Given the description of an element on the screen output the (x, y) to click on. 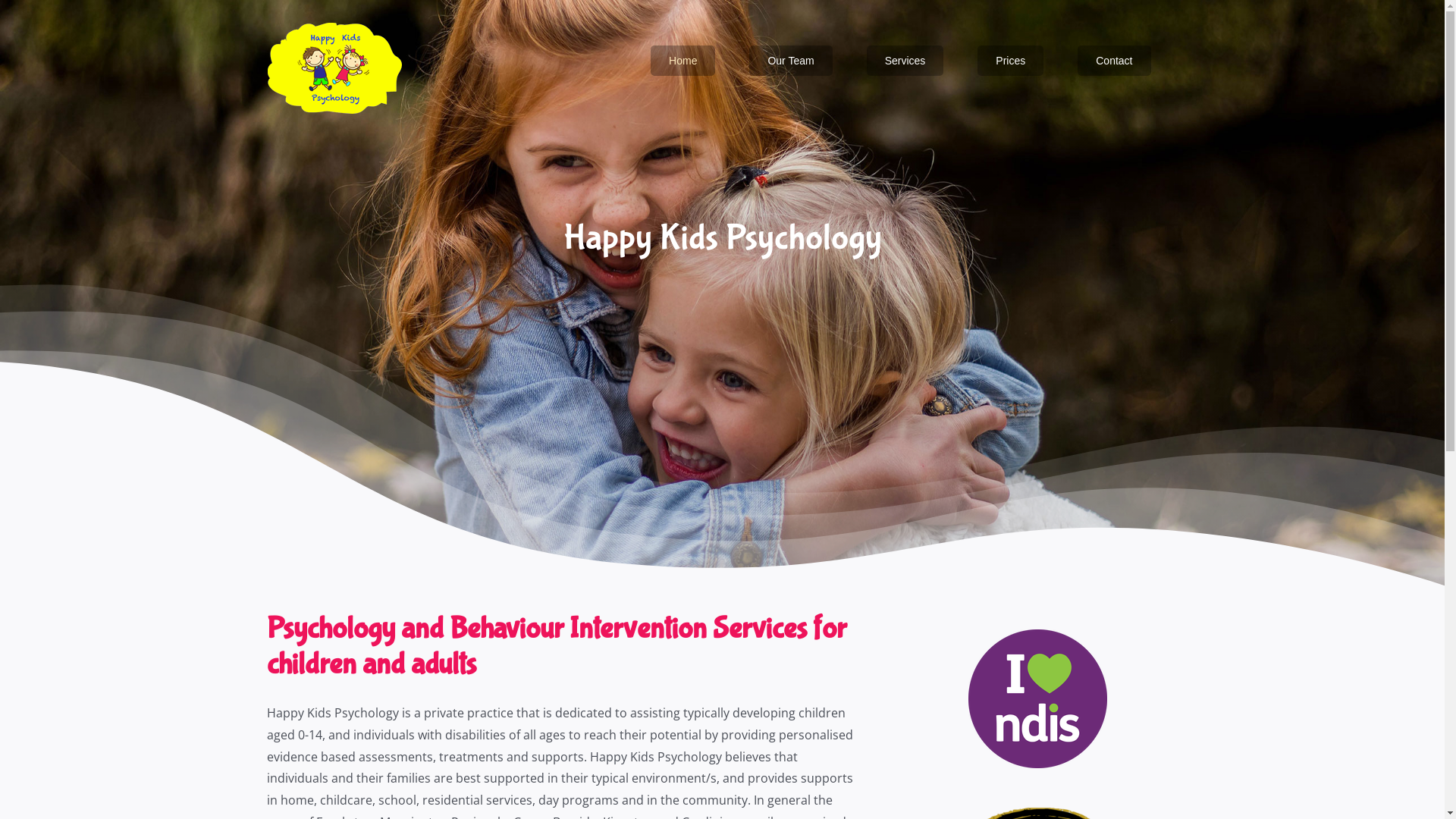
Prices Element type: text (1010, 60)
Home Element type: text (682, 60)
Services Element type: text (905, 60)
Our Team Element type: text (790, 60)
Happy Kids Psychology NDIS Provider Element type: hover (1037, 698)
Contact Element type: text (1113, 60)
